Given the description of an element on the screen output the (x, y) to click on. 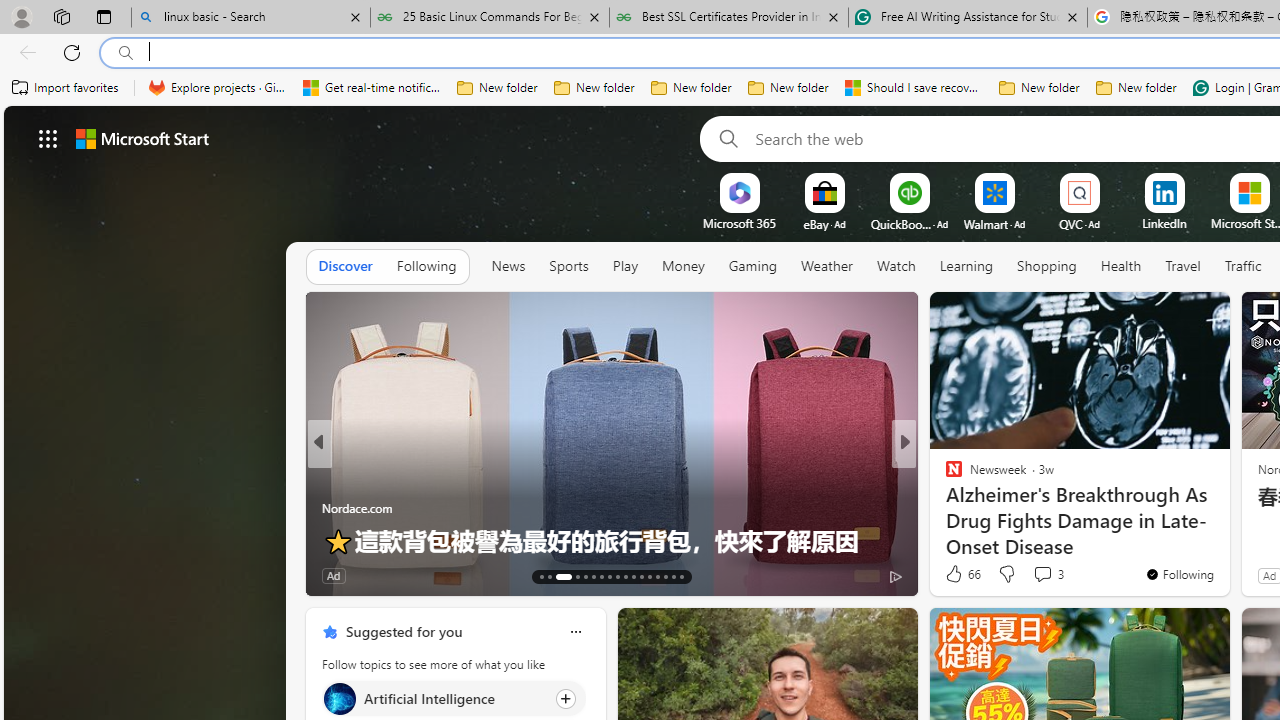
View comments 137 Comment (420, 575)
